Given the description of an element on the screen output the (x, y) to click on. 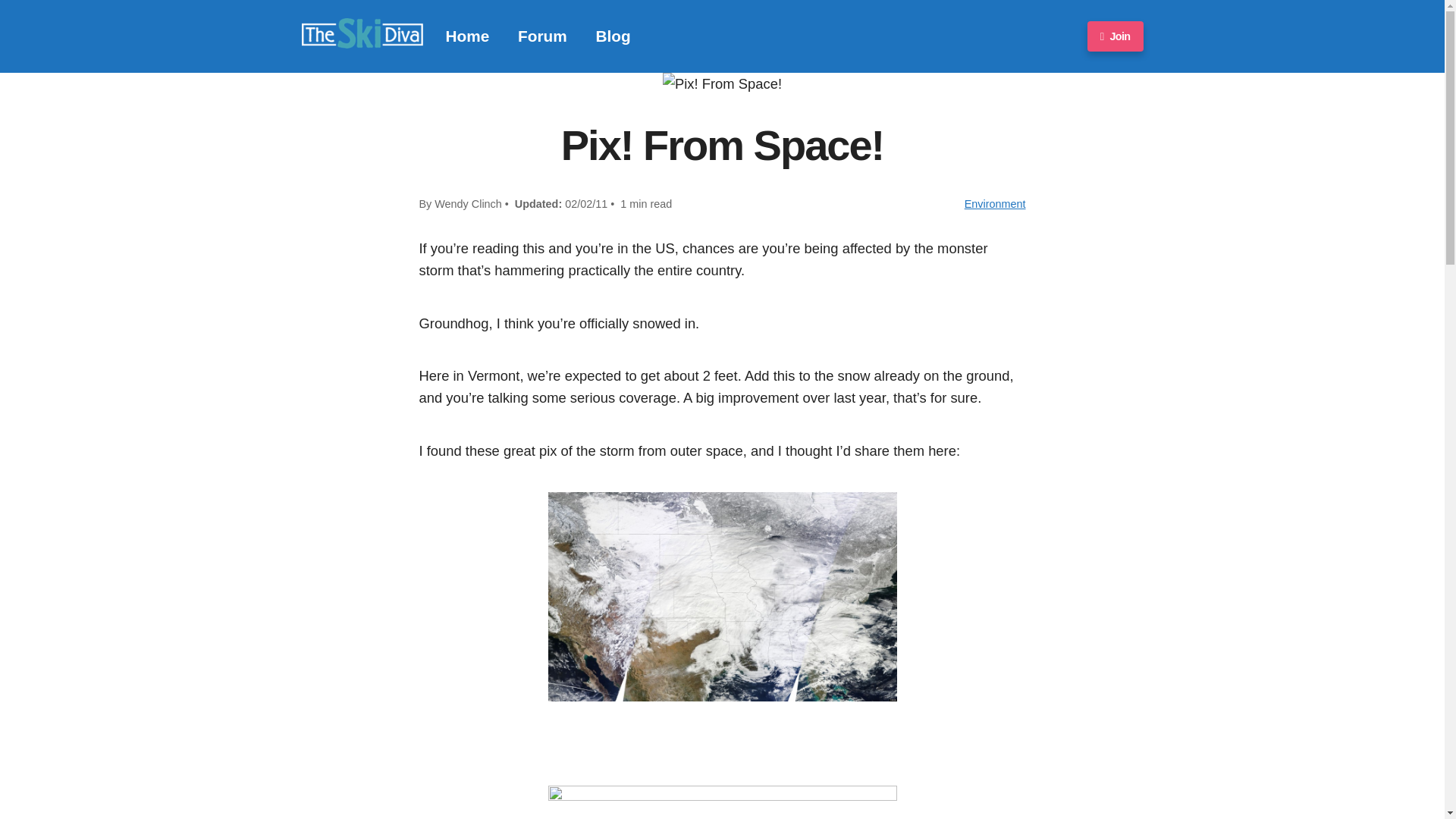
MID-WEST-SNOWSTORM (721, 801)
Blog (612, 35)
Forum (542, 35)
Home (467, 35)
MIDWEST-SNOWSTORM2 (721, 596)
Forum (542, 35)
Environment (994, 203)
Join (1114, 36)
